Given the description of an element on the screen output the (x, y) to click on. 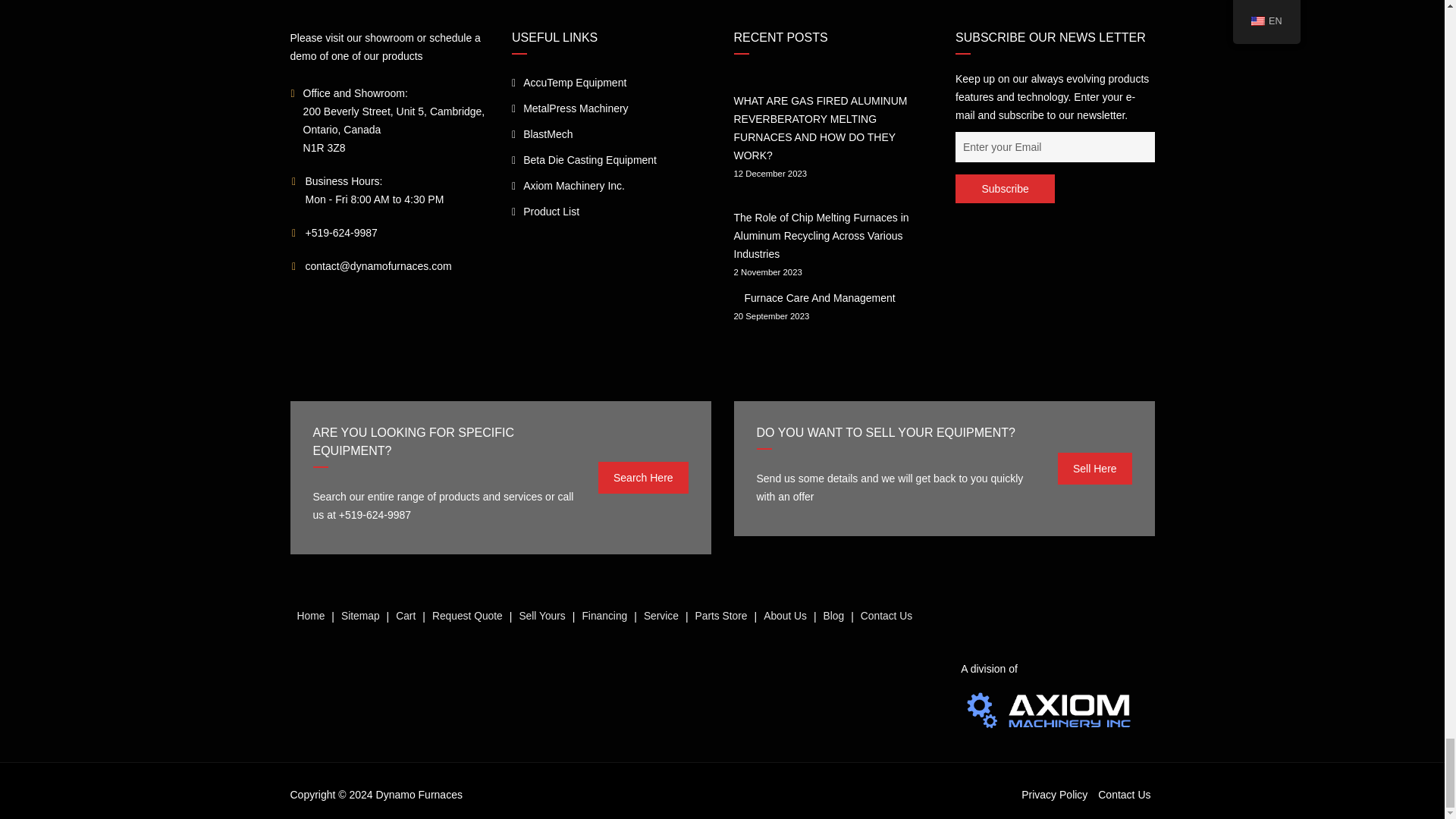
Subscribe (1004, 188)
